Given the description of an element on the screen output the (x, y) to click on. 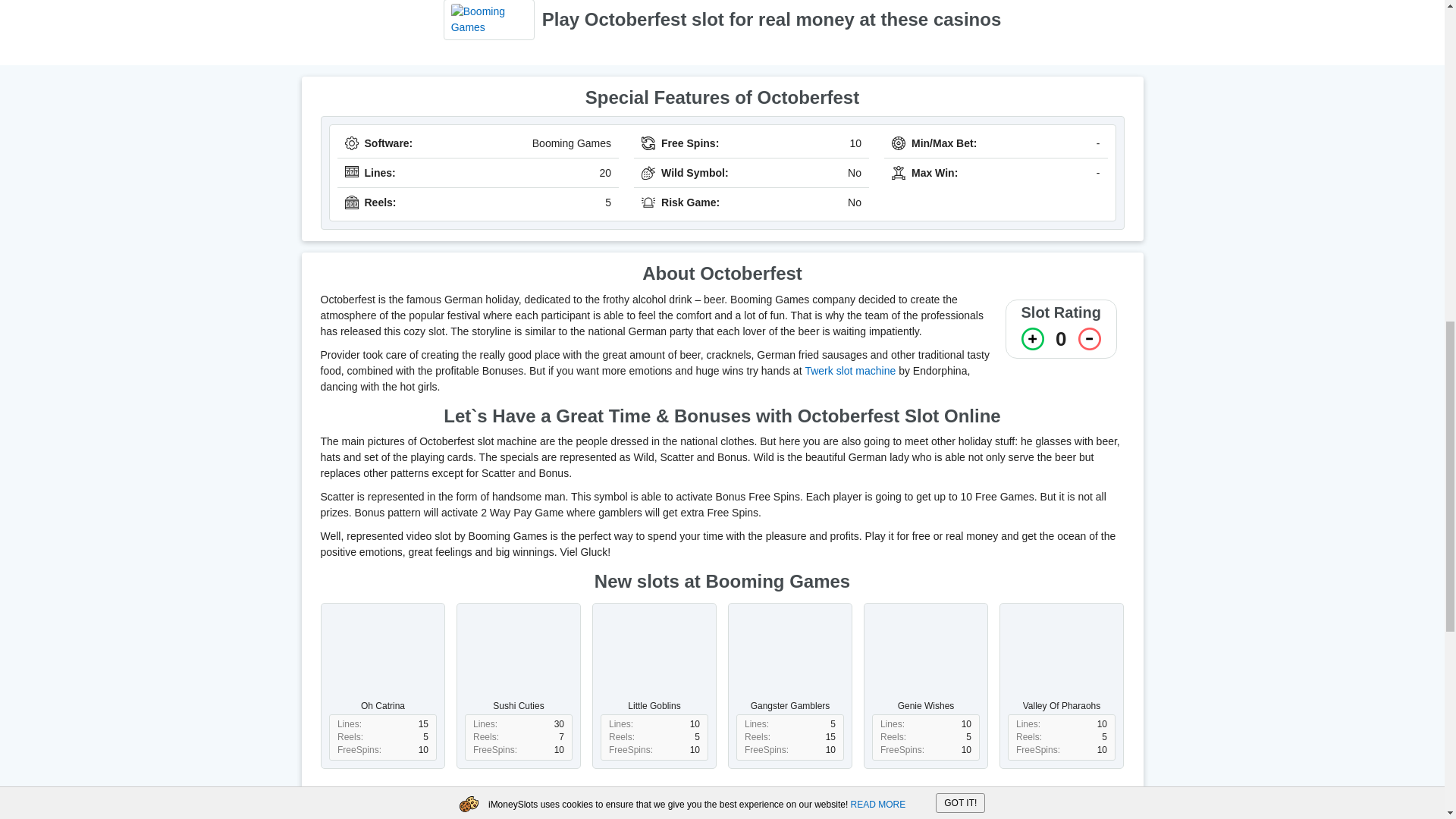
-1 (1089, 338)
Vote up (1032, 338)
Valley Of Pharaohs (1061, 660)
Genie Wishes (925, 660)
Gangster Gamblers (789, 660)
Sushi Cuties (518, 660)
Vote down (1089, 338)
Oh Catrina (382, 660)
Little Goblins (653, 660)
-1 (1089, 338)
Twerk slot machine (850, 370)
